Given the description of an element on the screen output the (x, y) to click on. 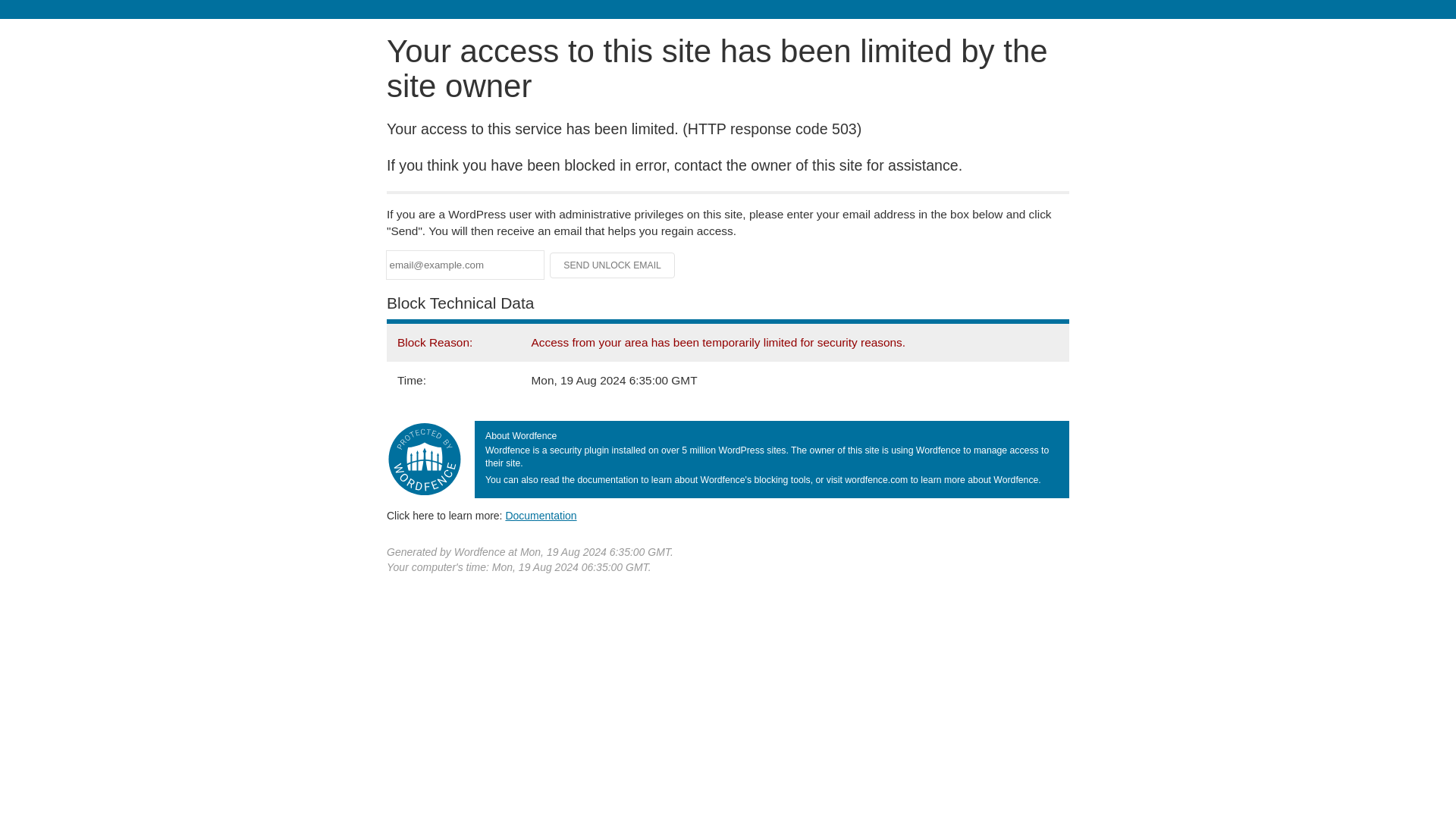
Send Unlock Email (612, 265)
Send Unlock Email (612, 265)
Documentation (540, 515)
